Given the description of an element on the screen output the (x, y) to click on. 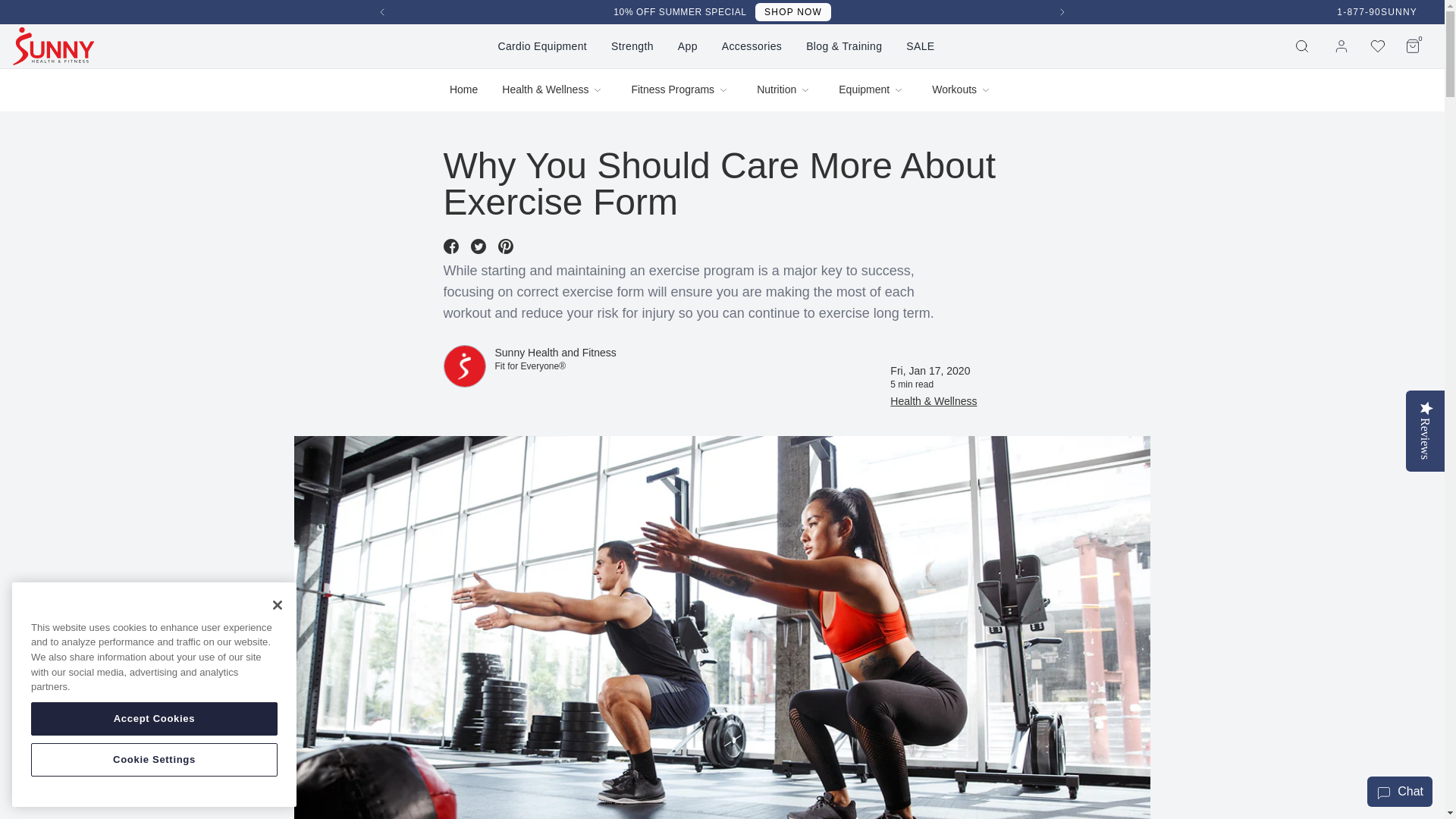
Cardio Equipment (381, 12)
Sunny Health and Fitness (541, 45)
SHOP NOW (53, 45)
Search Icon (793, 12)
go (1305, 46)
